Given the description of an element on the screen output the (x, y) to click on. 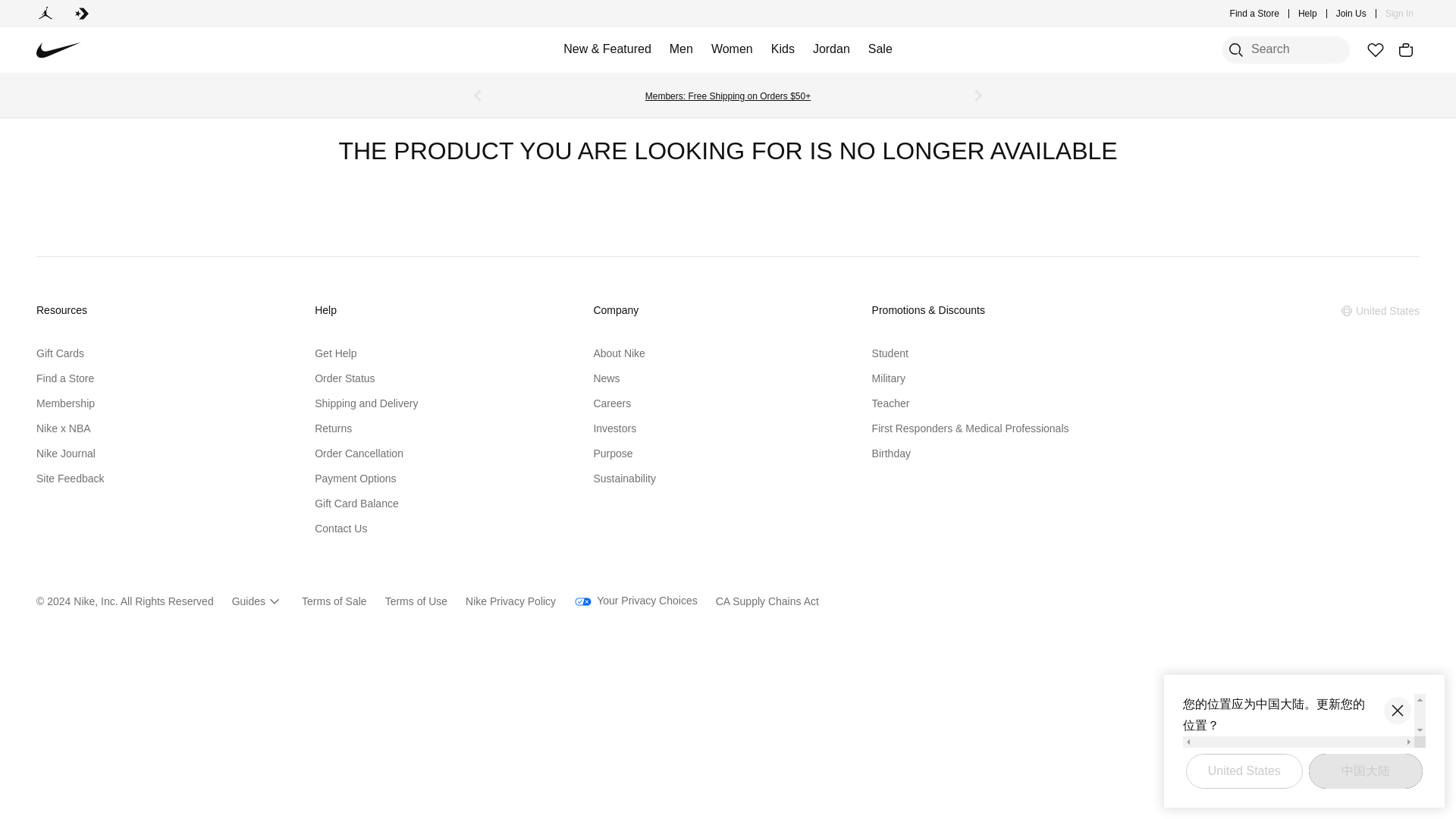
Find a Store (1254, 13)
Sign In (1399, 13)
Join Us (1351, 13)
Selected Location: United States (1379, 310)
Help (1307, 13)
Favorites (1375, 49)
Bag Items: 0 (1405, 49)
